Given the description of an element on the screen output the (x, y) to click on. 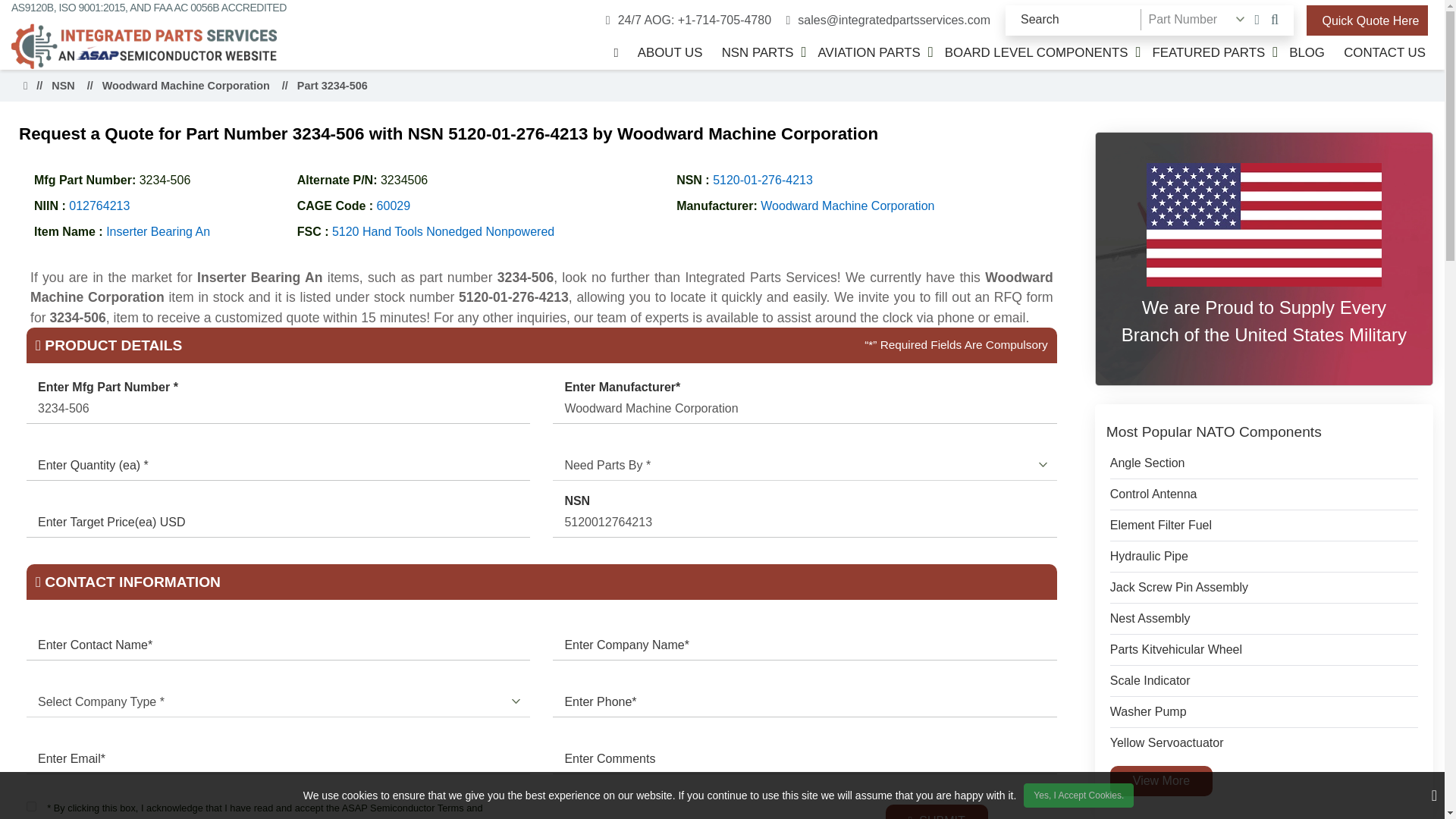
  Quick Quote Here (1367, 20)
Woodward Machine Corporation (805, 408)
on (31, 806)
3234-506 (277, 408)
AVIATION PARTS (869, 52)
CONTACT US (1384, 52)
ABOUT US (670, 52)
FEATURED PARTS (1208, 52)
BOARD LEVEL COMPONENTS (1036, 52)
BLOG (1306, 52)
